Given the description of an element on the screen output the (x, y) to click on. 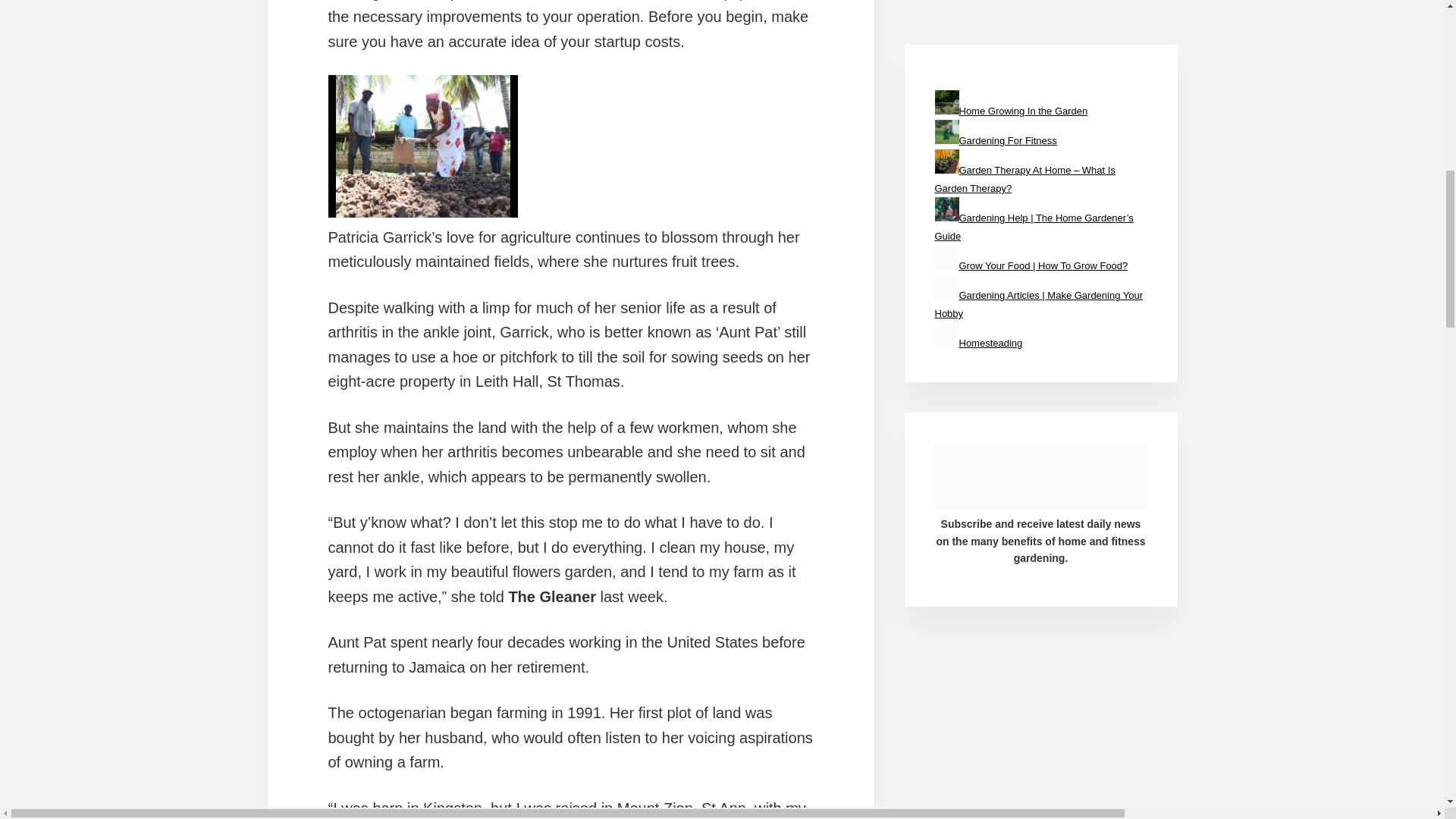
Homesteading (946, 334)
Home Growing In the Garden (1022, 111)
Home Growing In the Garden (946, 102)
Homesteading (990, 342)
Gardening For Fitness (1007, 140)
Gardening For Fitness (946, 131)
Advertisement (1180, 18)
